Given the description of an element on the screen output the (x, y) to click on. 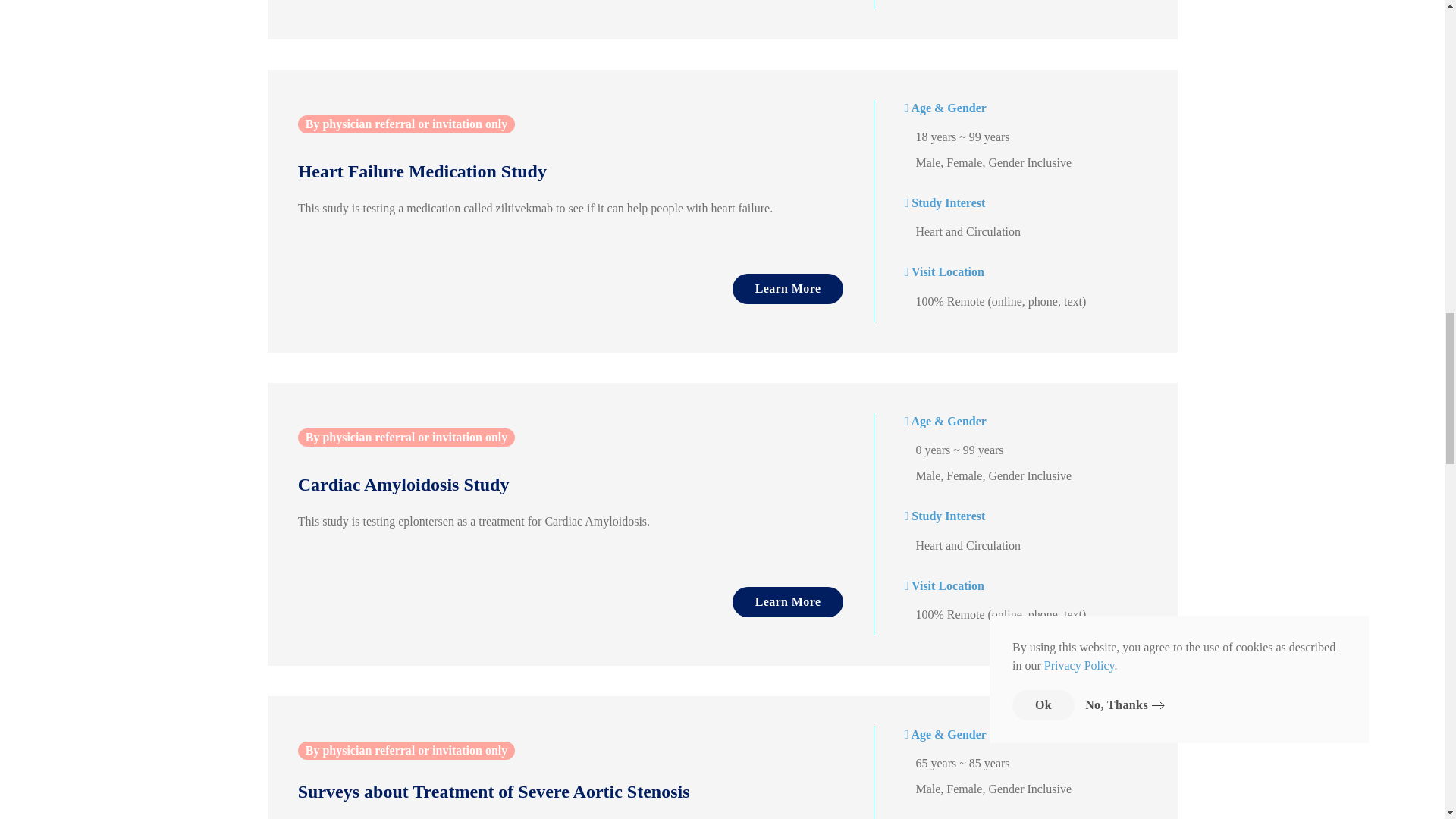
Learn More (788, 288)
Learn More (788, 602)
Cardiac Amyloidosis Study (555, 484)
Heart Failure Medication Study (555, 171)
